Given the description of an element on the screen output the (x, y) to click on. 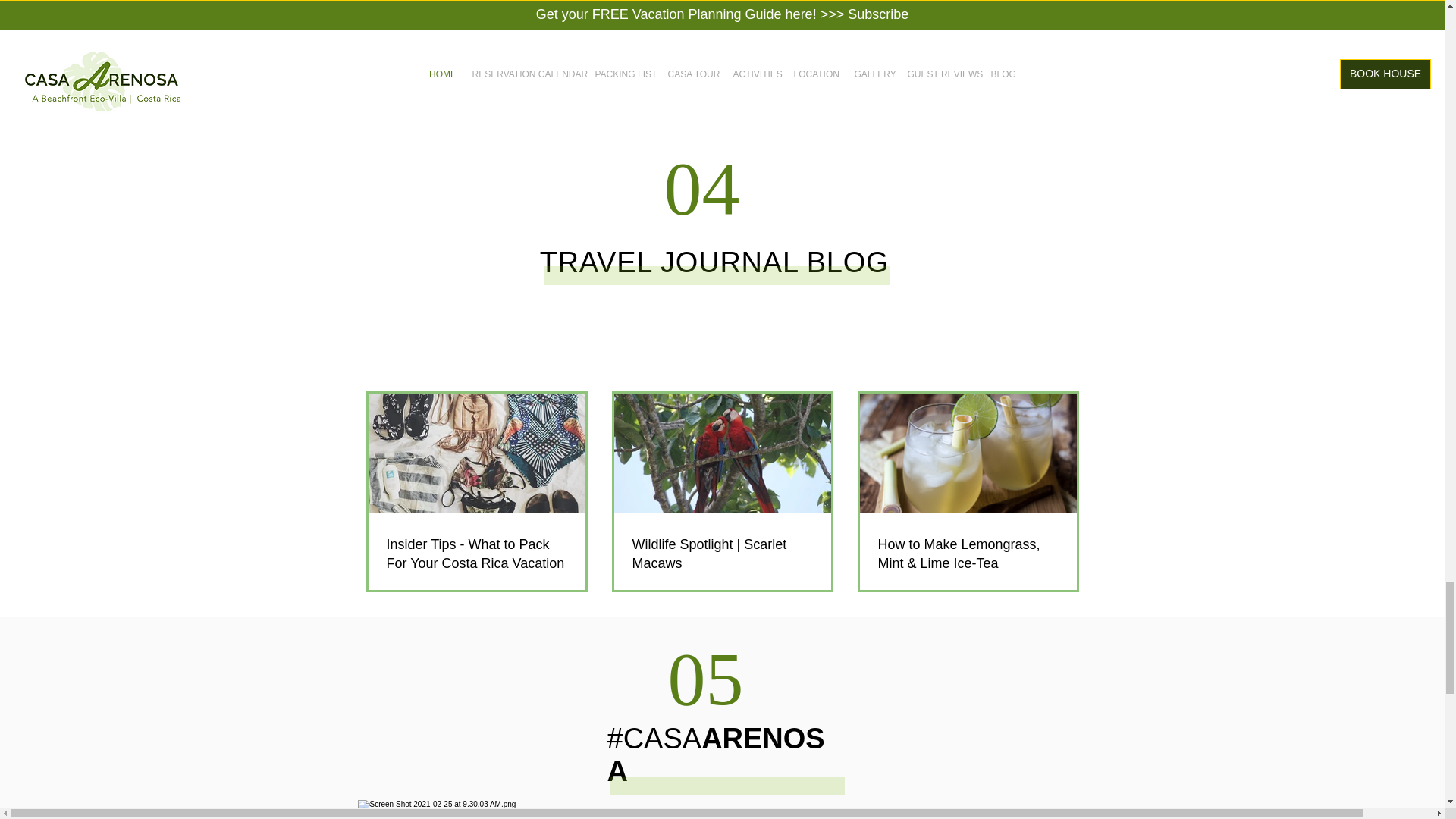
Insider Tips - What to Pack For Your Costa Rica Vacation (477, 554)
www.brandifyhq.com (95, 603)
branding and website design! (171, 603)
LEARN MORE (922, 59)
